Given the description of an element on the screen output the (x, y) to click on. 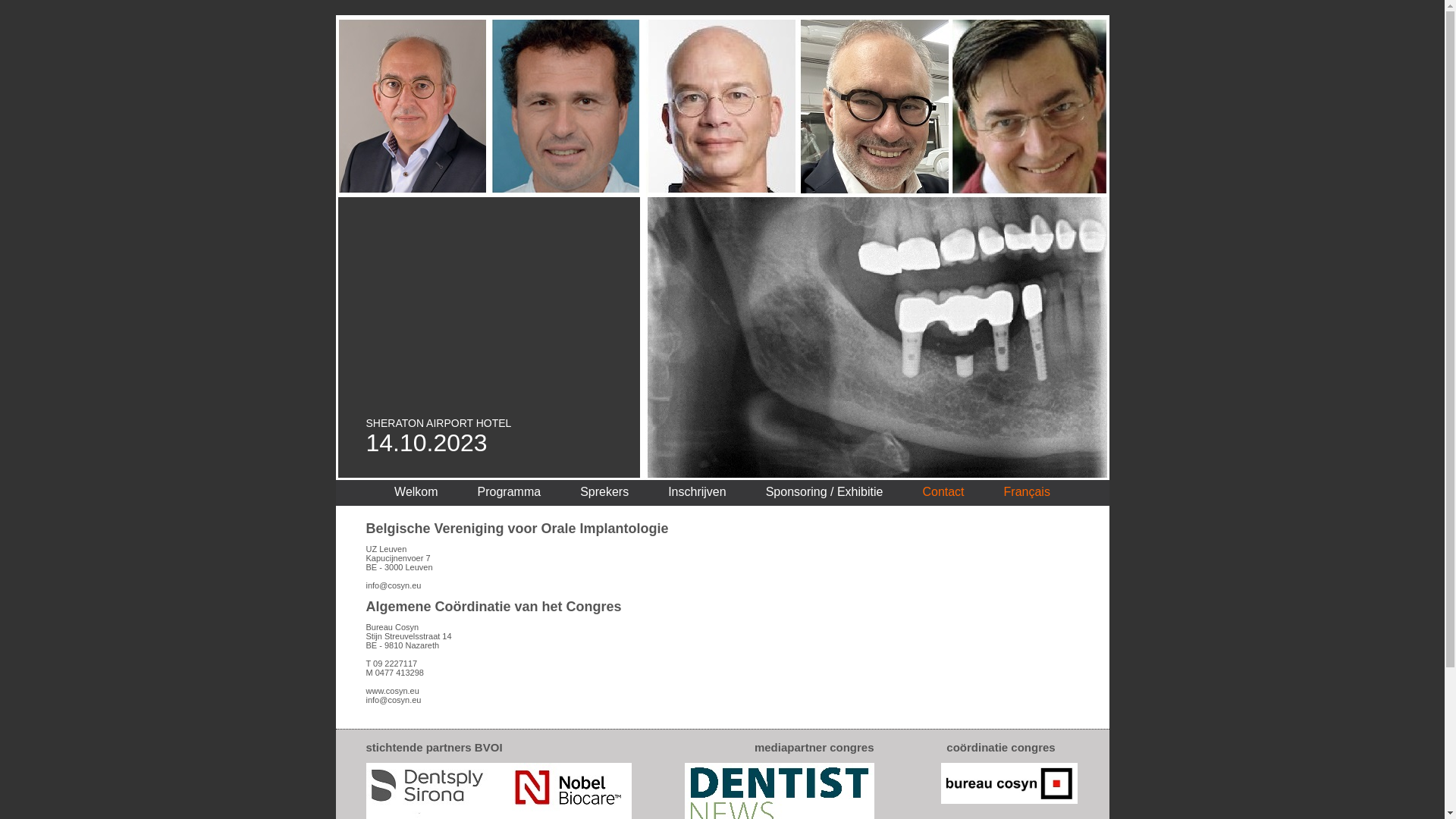
Contact Element type: text (942, 491)
Welkom Element type: text (416, 491)
Inschrijven Element type: text (696, 491)
Sponsoring / Exhibitie Element type: text (824, 491)
Sprekers Element type: text (604, 491)
Programma Element type: text (509, 491)
